Given the description of an element on the screen output the (x, y) to click on. 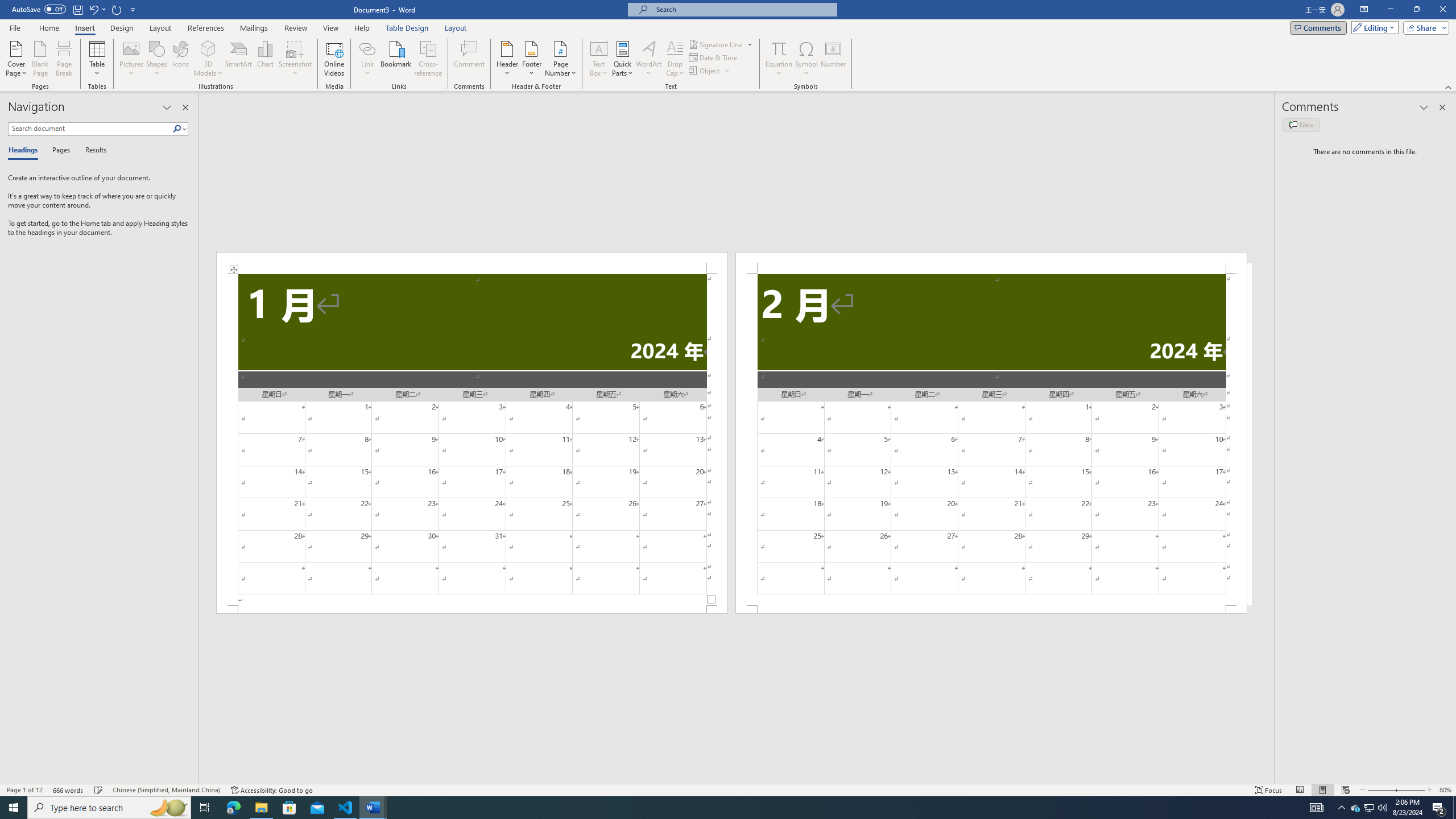
Comment (469, 58)
Chart... (265, 58)
Footer -Section 1- (471, 609)
Microsoft search (742, 9)
Quick Parts (622, 58)
Read Mode (1299, 790)
Class: NetUIScrollBar (736, 778)
Cross-reference... (428, 58)
Word Count 666 words (68, 790)
Mode (1372, 27)
Review (295, 28)
Print Layout (1322, 790)
Equation (778, 58)
Mailings (253, 28)
Restore Down (1416, 9)
